Given the description of an element on the screen output the (x, y) to click on. 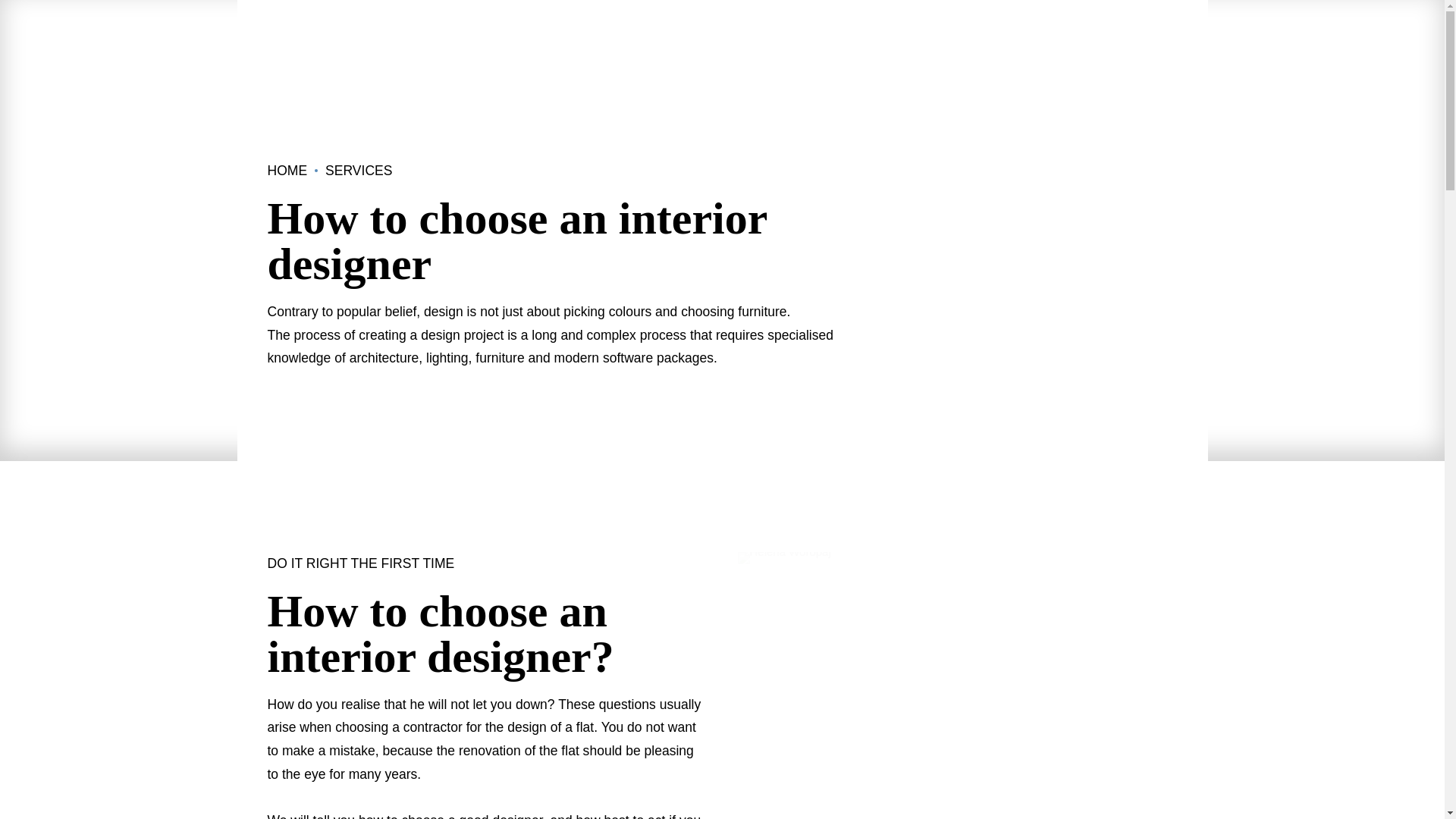
Helena Woropaj (979, 685)
